Given the description of an element on the screen output the (x, y) to click on. 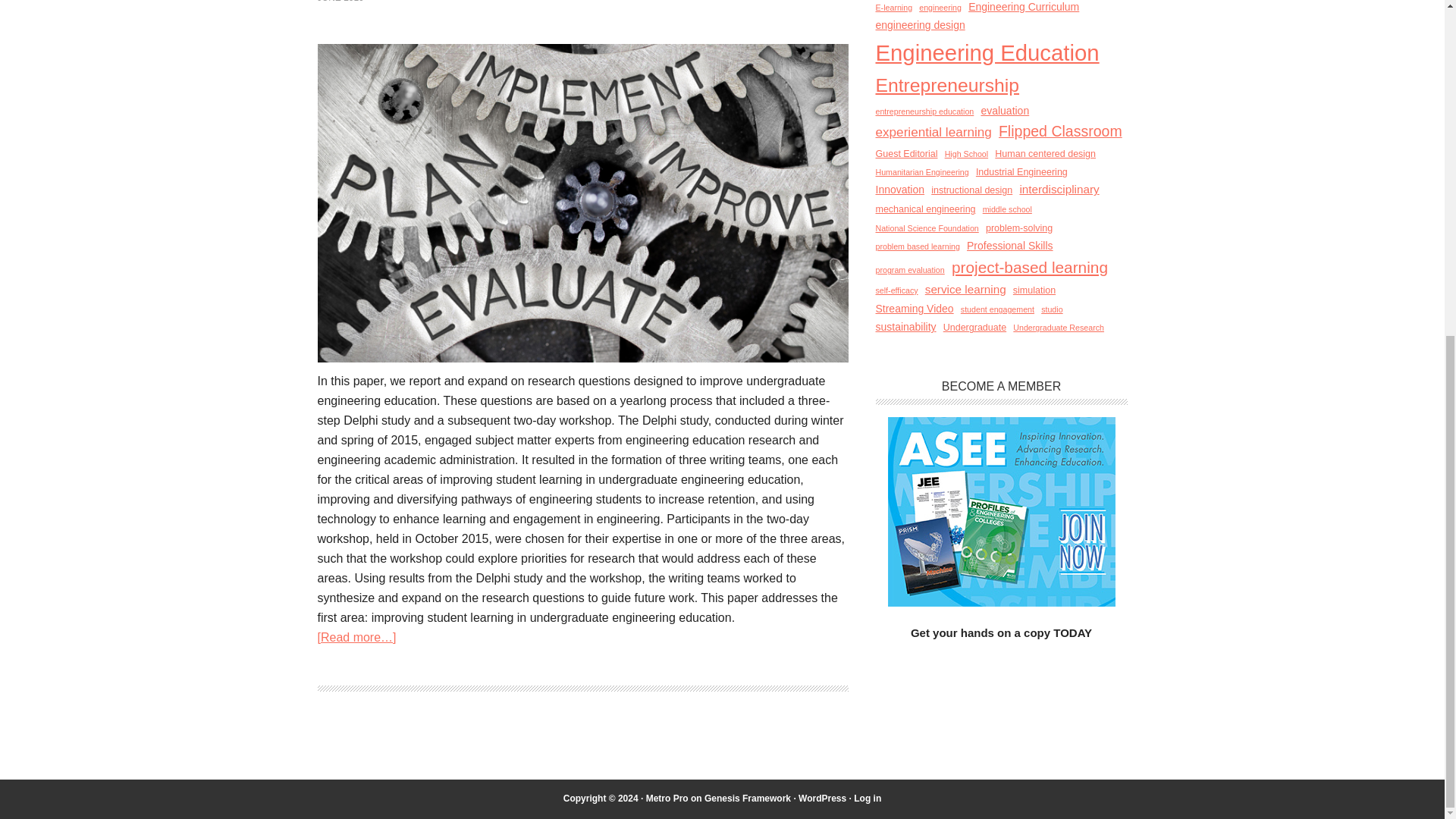
Entrepreneurship (947, 85)
evaluation (1004, 110)
Guest Editorial (906, 153)
E-learning (893, 7)
Engineering Education (987, 53)
Flipped Classroom (1060, 131)
High School (966, 154)
entrepreneurship education (924, 111)
engineering (939, 7)
engineering design (919, 25)
Engineering Curriculum (1023, 7)
Human centered design (1045, 153)
experiential learning (933, 132)
